Given the description of an element on the screen output the (x, y) to click on. 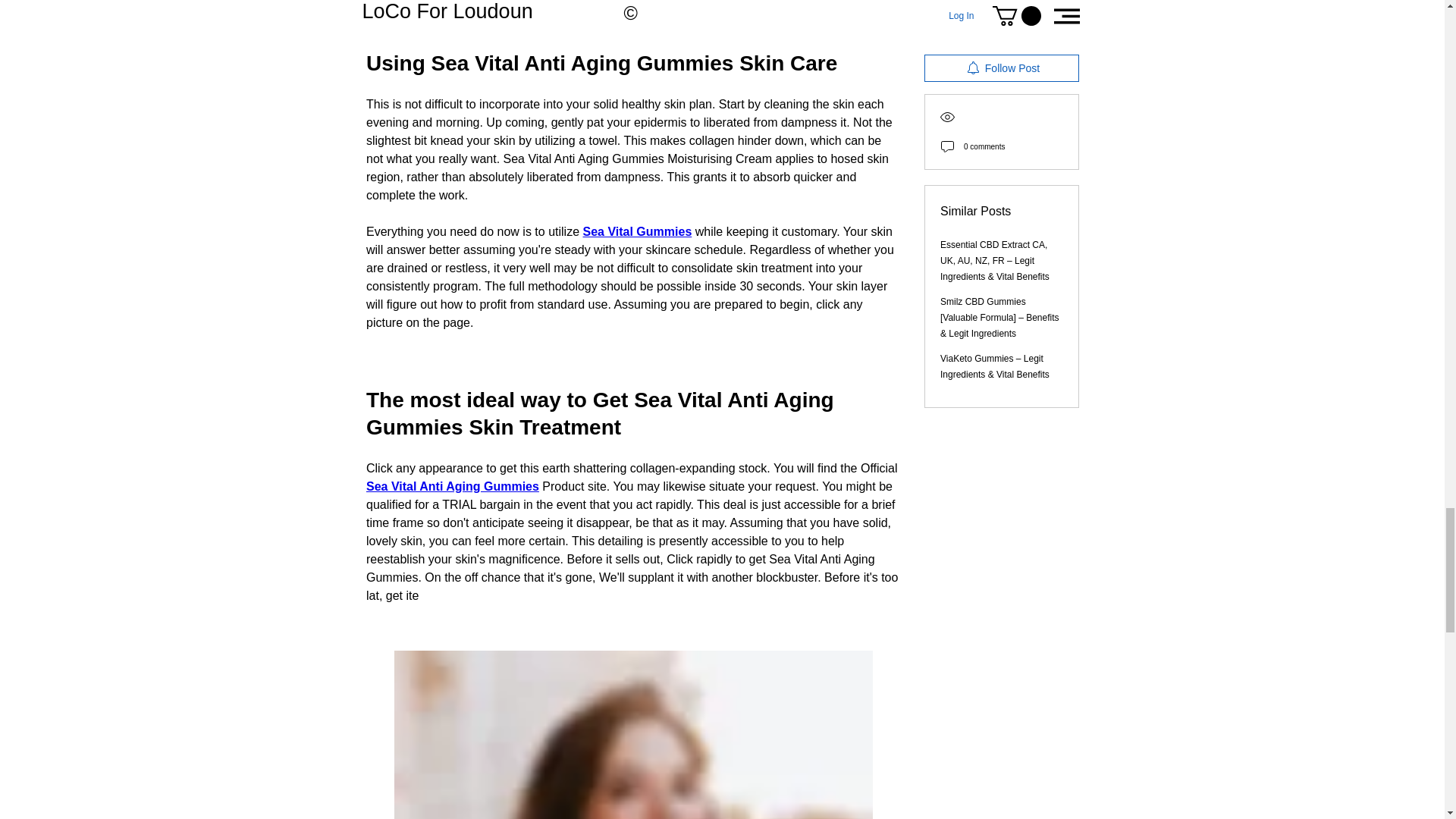
Sea Vital Anti Aging Gummies (452, 486)
Sea Vital Gummies (636, 231)
